Given the description of an element on the screen output the (x, y) to click on. 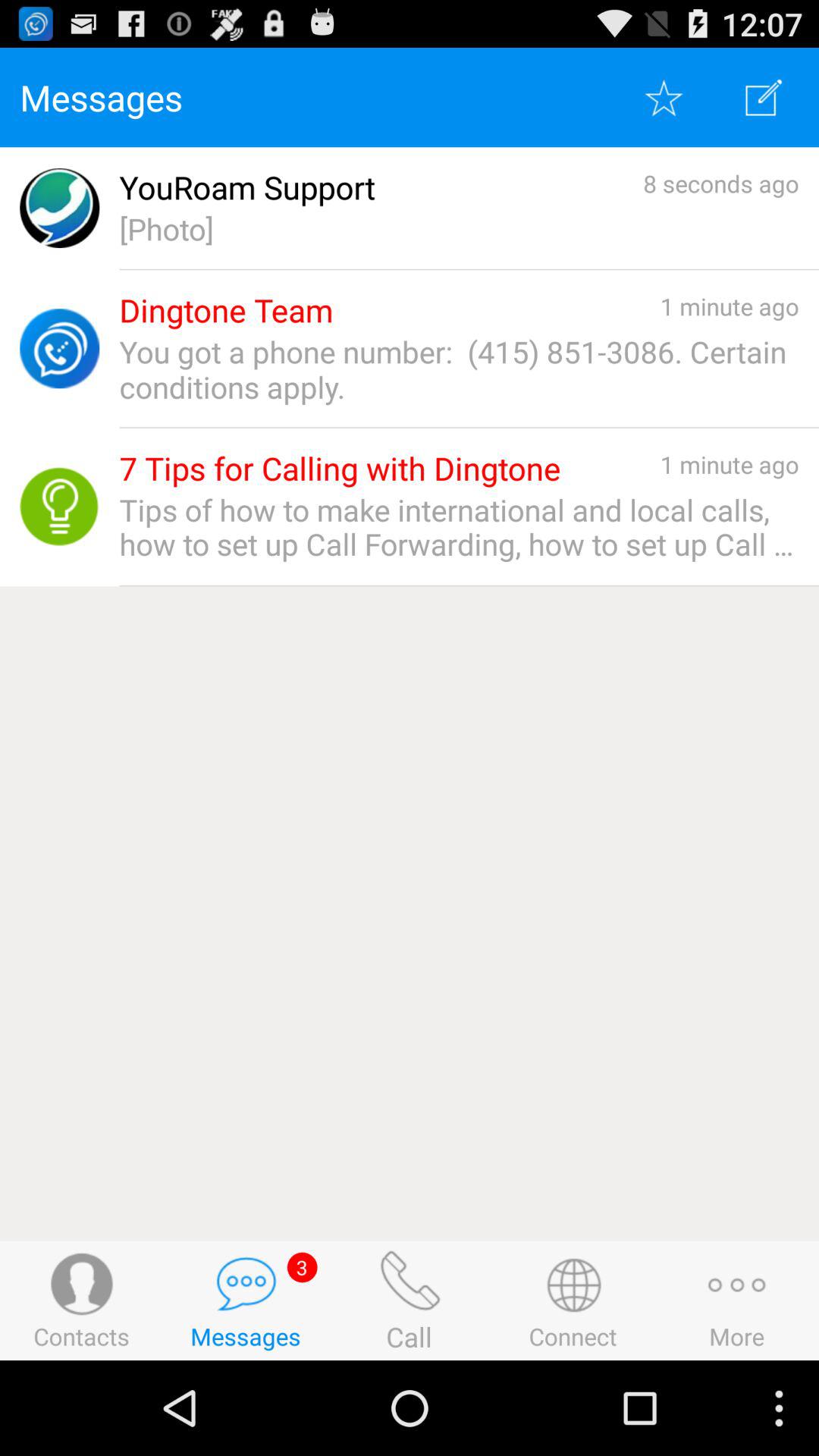
flip to youroam support app (247, 187)
